Given the description of an element on the screen output the (x, y) to click on. 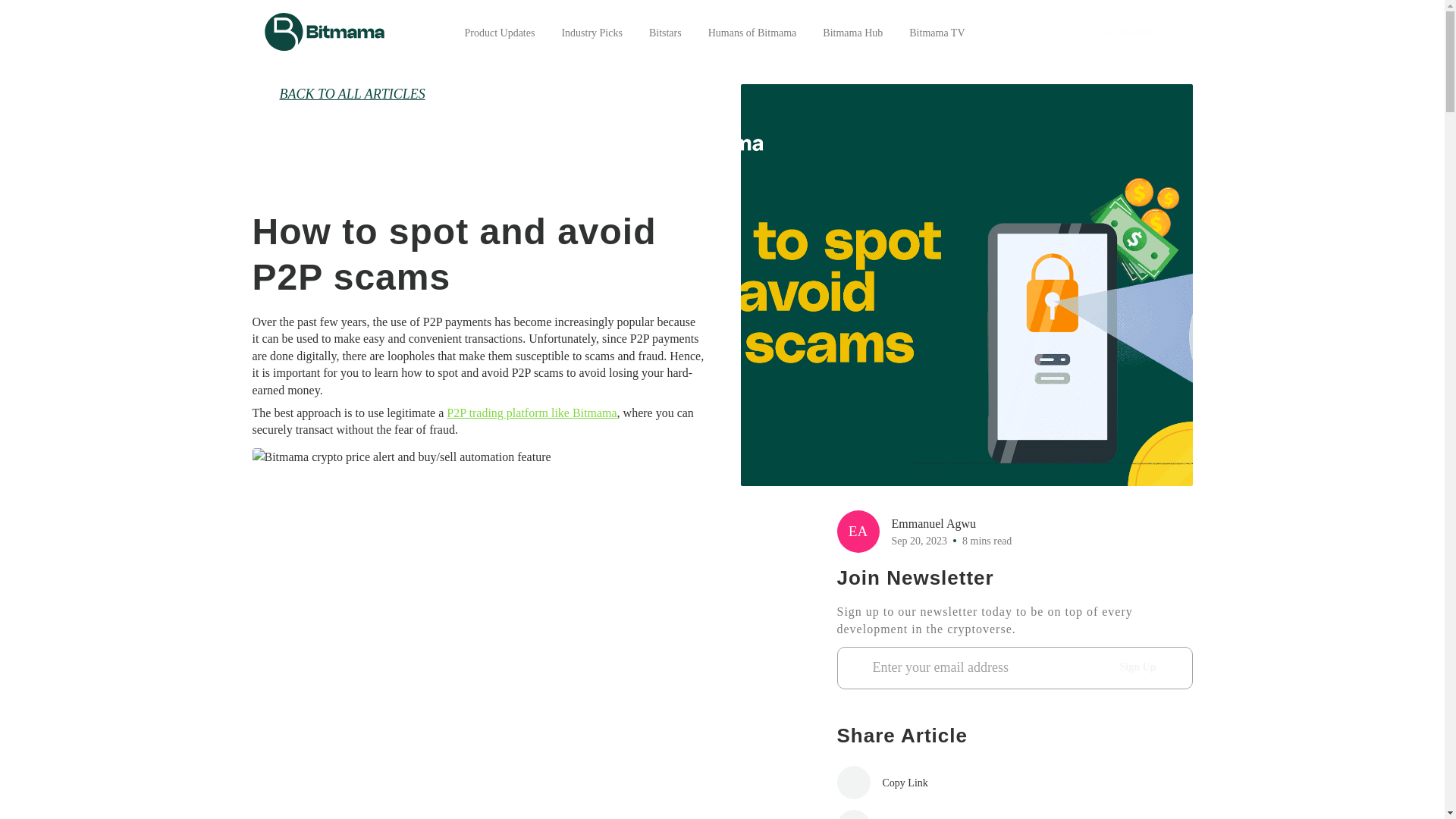
Get Started (1125, 33)
Bitstars (665, 32)
Get Started (1125, 31)
Twitter (905, 814)
Industry Picks (591, 32)
BACK TO ALL ARTICLES (477, 94)
P2P trading platform like Bitmama (530, 412)
Sign Up (1137, 666)
Product Updates (499, 32)
Bitmama Hub (852, 32)
